Given the description of an element on the screen output the (x, y) to click on. 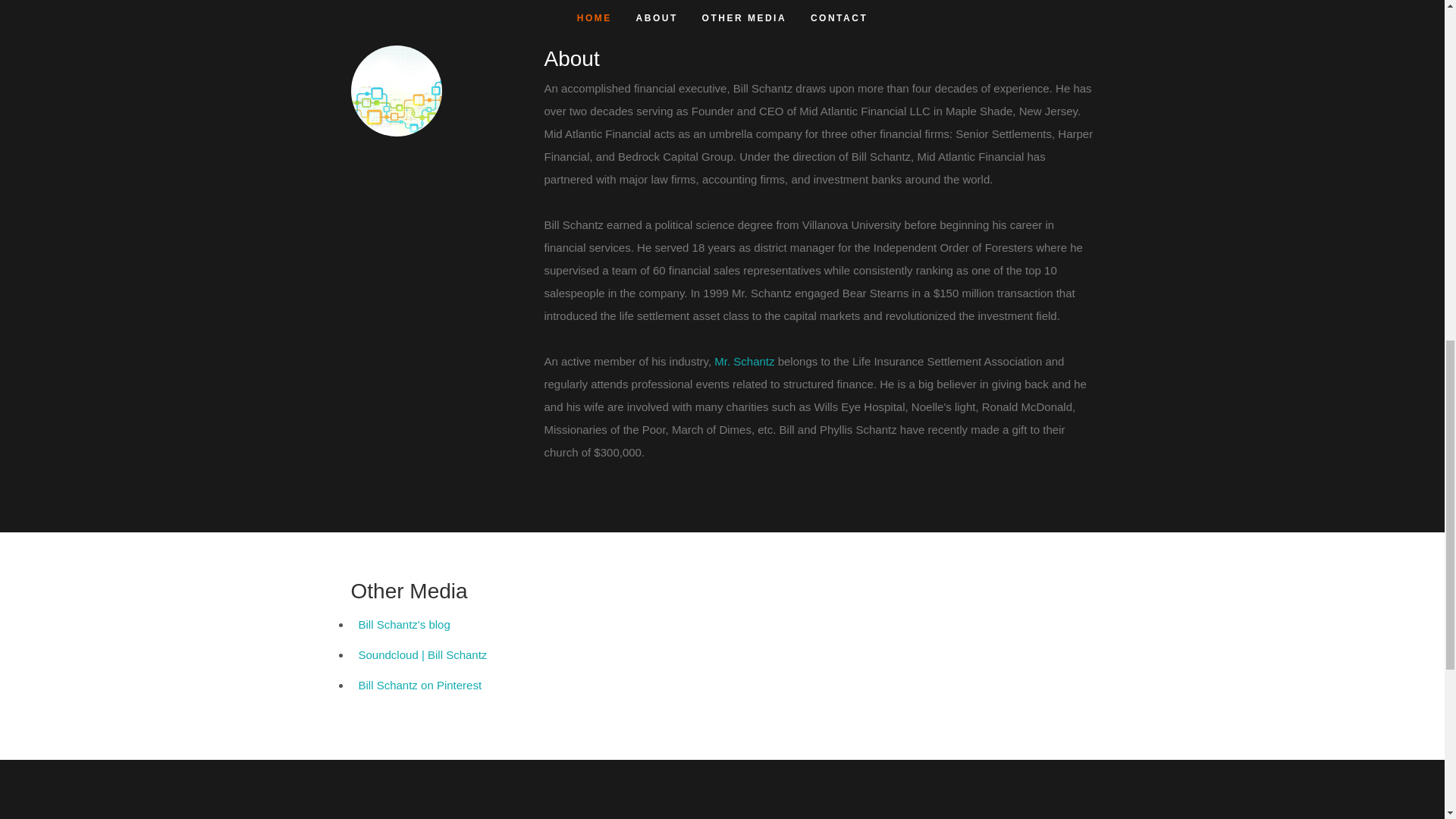
Bill Schantz's blog (403, 624)
Mr. Schantz (744, 360)
Bill Schantz on Pinterest (419, 684)
Bill Schantz's blog (403, 624)
Bill Schantz on Pinterest (419, 684)
squareconnects.png (395, 90)
